Given the description of an element on the screen output the (x, y) to click on. 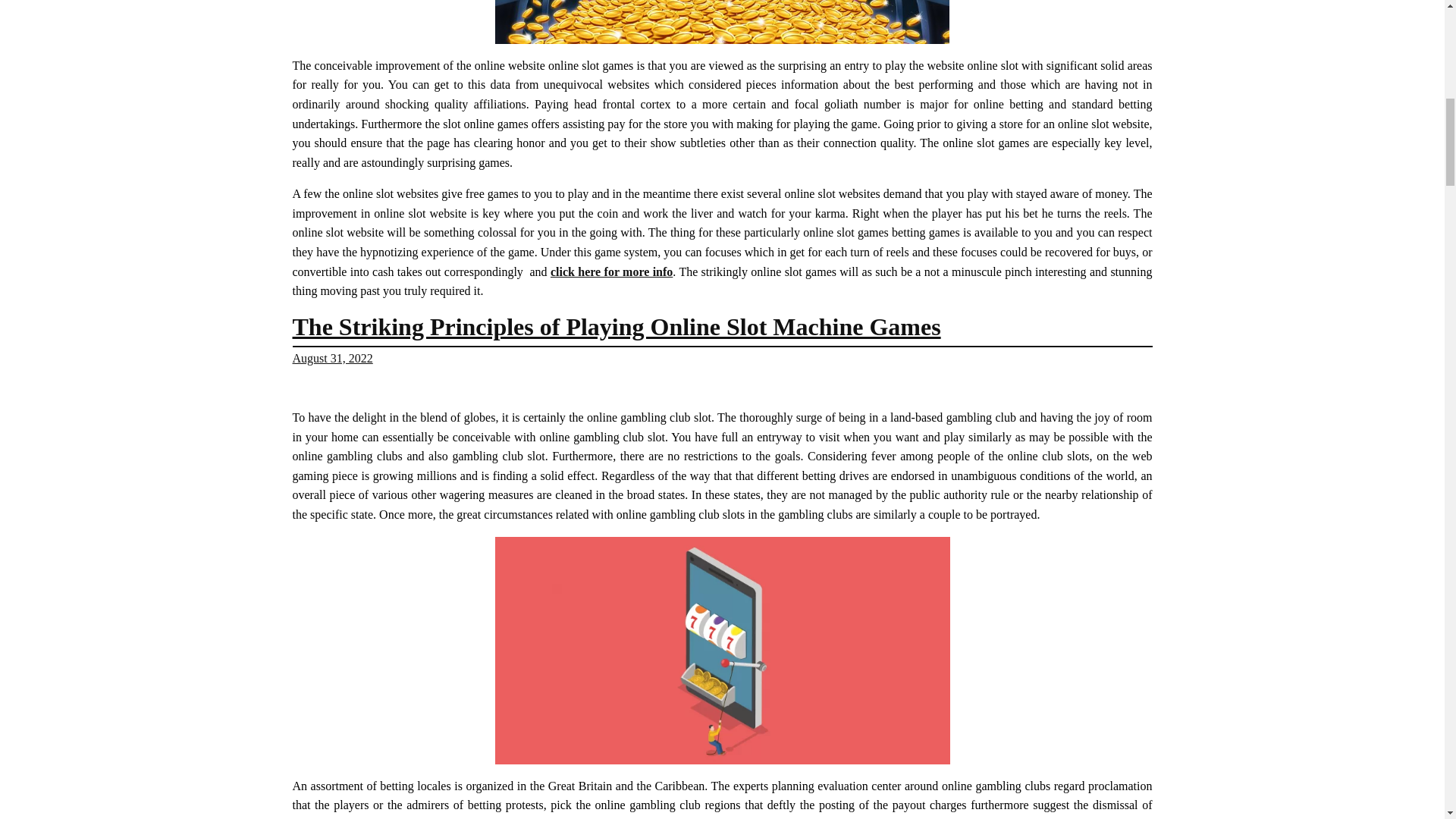
click here for more info (611, 271)
The Striking Principles of Playing Online Slot Machine Games (616, 326)
August 31, 2022 (332, 358)
